Given the description of an element on the screen output the (x, y) to click on. 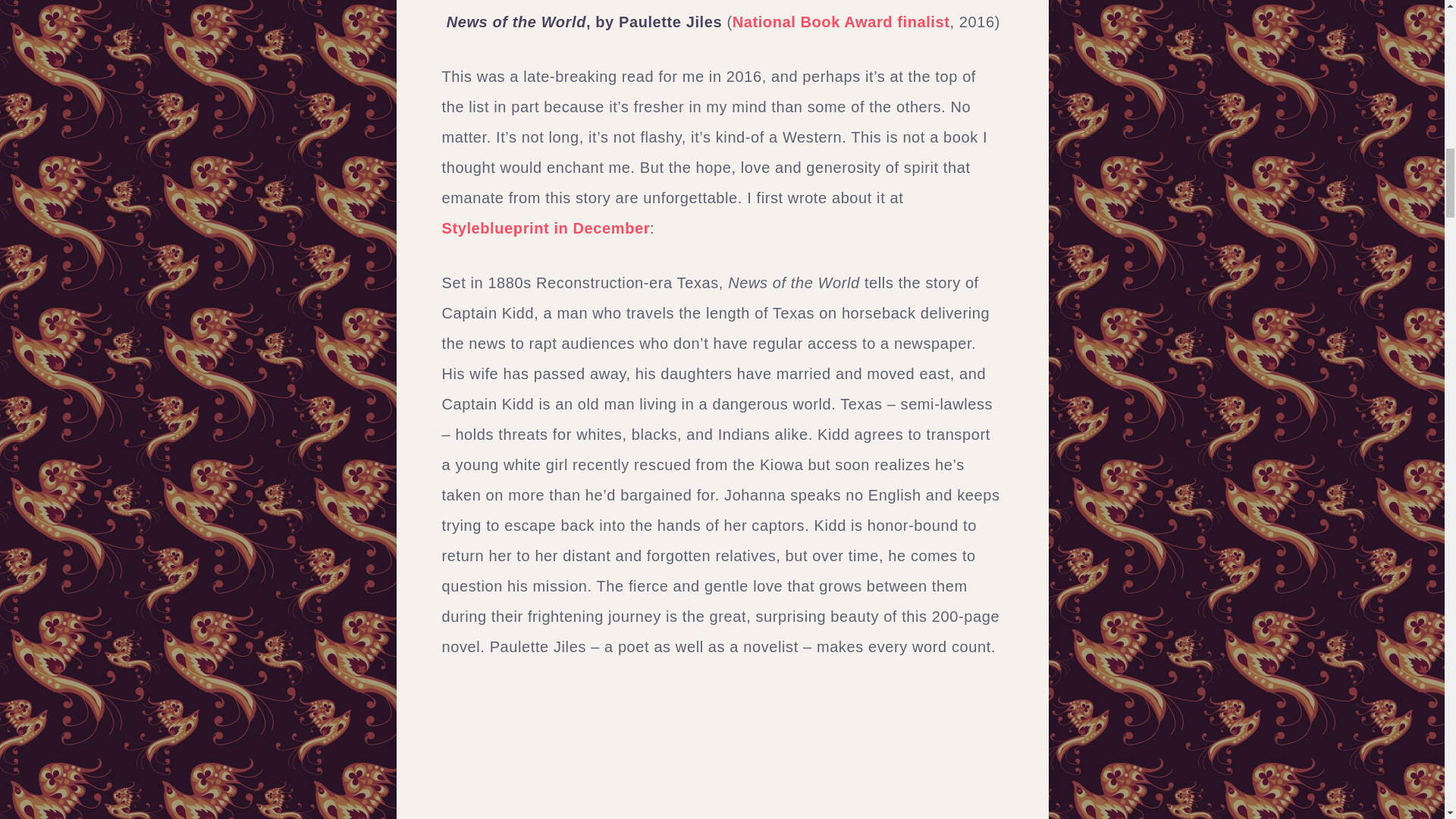
Styleblueprint in December (545, 228)
National Book Award finalist (841, 21)
